Given the description of an element on the screen output the (x, y) to click on. 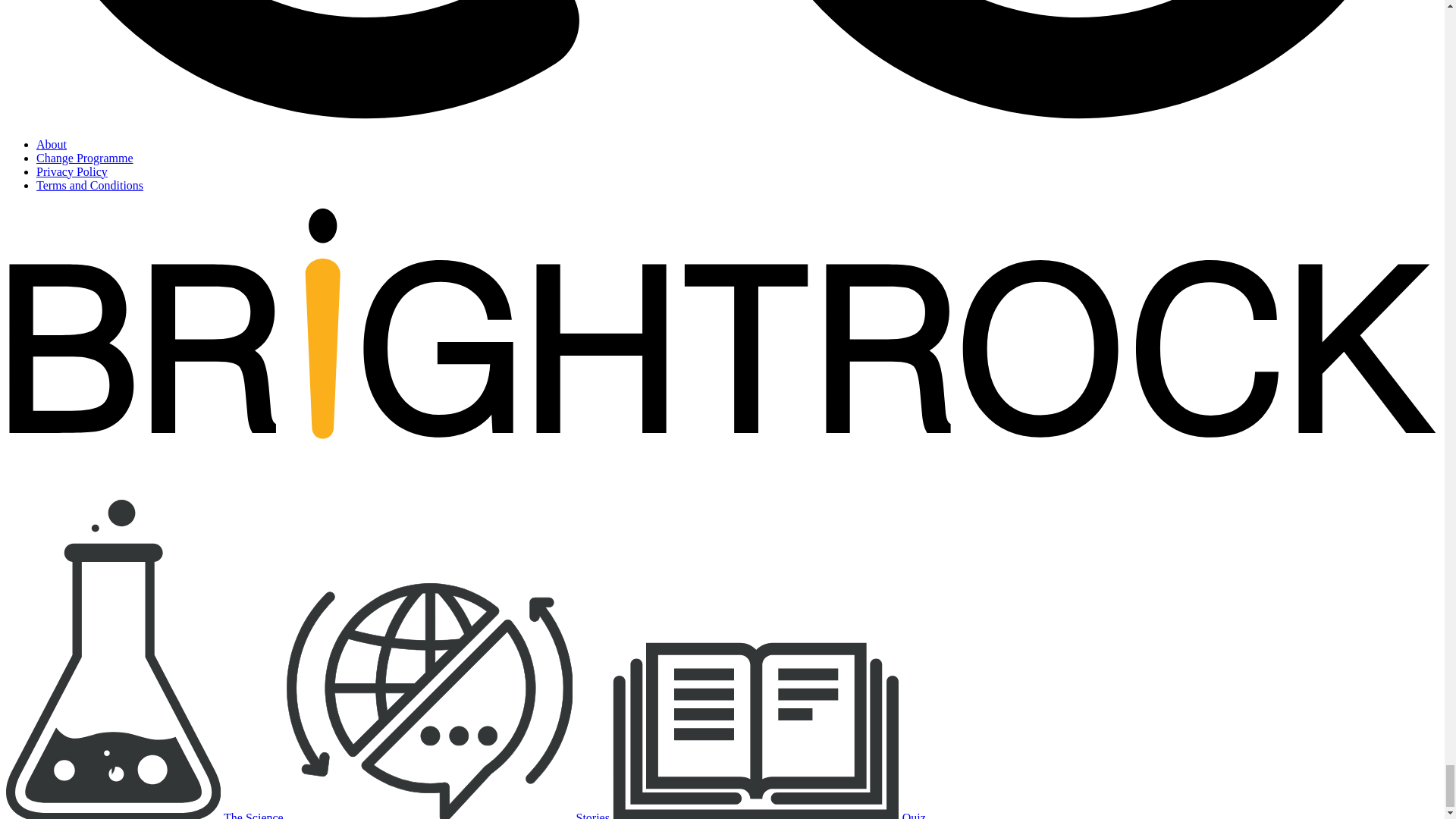
Terms and Conditions (89, 185)
About (51, 144)
Privacy Policy (71, 171)
Change Programme (84, 157)
